Given the description of an element on the screen output the (x, y) to click on. 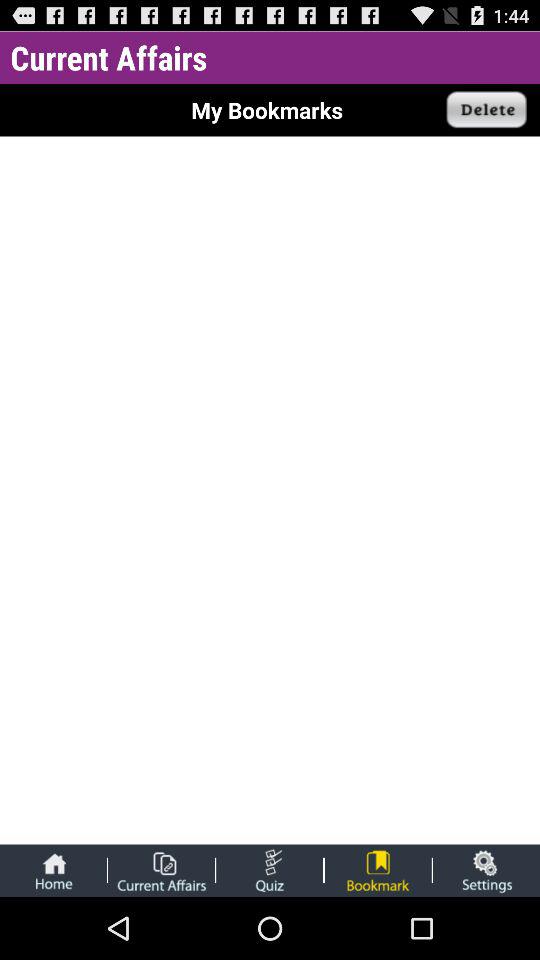
delete selected bookmarks (487, 109)
